Given the description of an element on the screen output the (x, y) to click on. 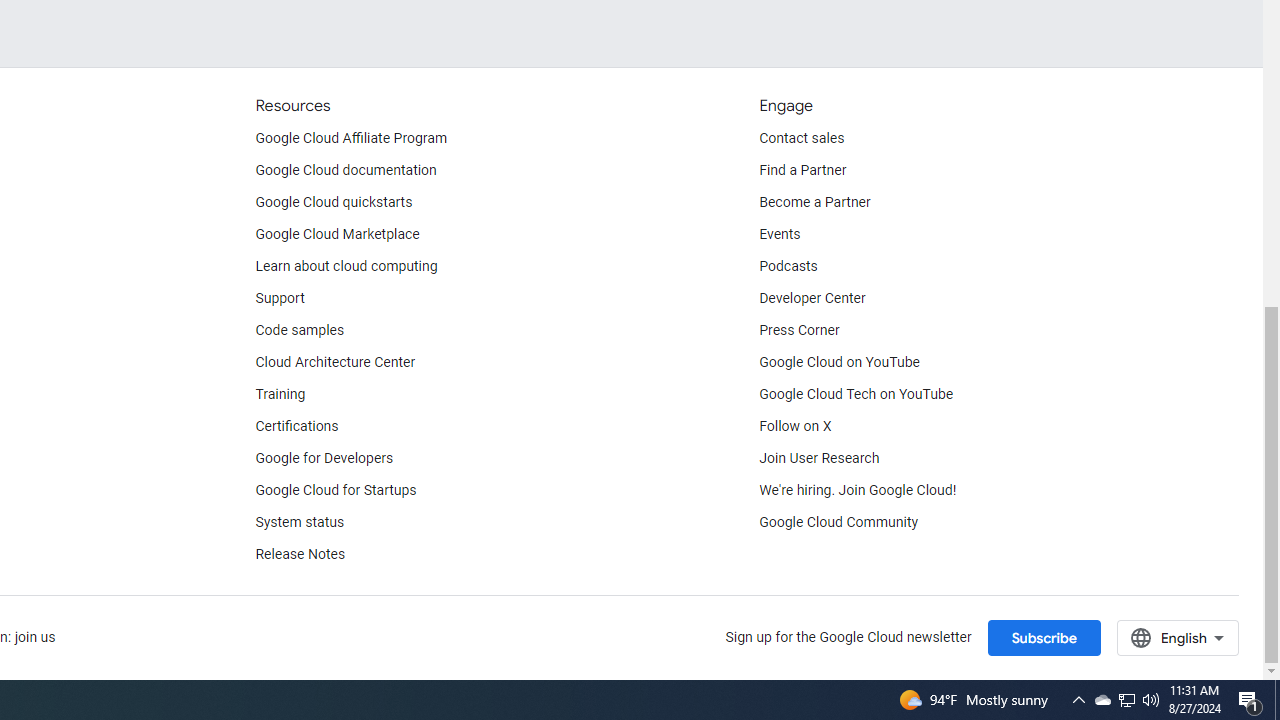
Code samples (299, 331)
Support (279, 298)
Cloud Architecture Center (335, 362)
English (1177, 637)
Release Notes (299, 554)
Become a Partner (814, 202)
Follow on X (795, 426)
Subscribe (1043, 637)
Google Cloud Tech on YouTube (856, 394)
Developer Center (812, 298)
We're hiring. Join Google Cloud! (858, 490)
System status (299, 522)
Press Corner (799, 331)
Podcasts (788, 266)
Learn about cloud computing (345, 266)
